Given the description of an element on the screen output the (x, y) to click on. 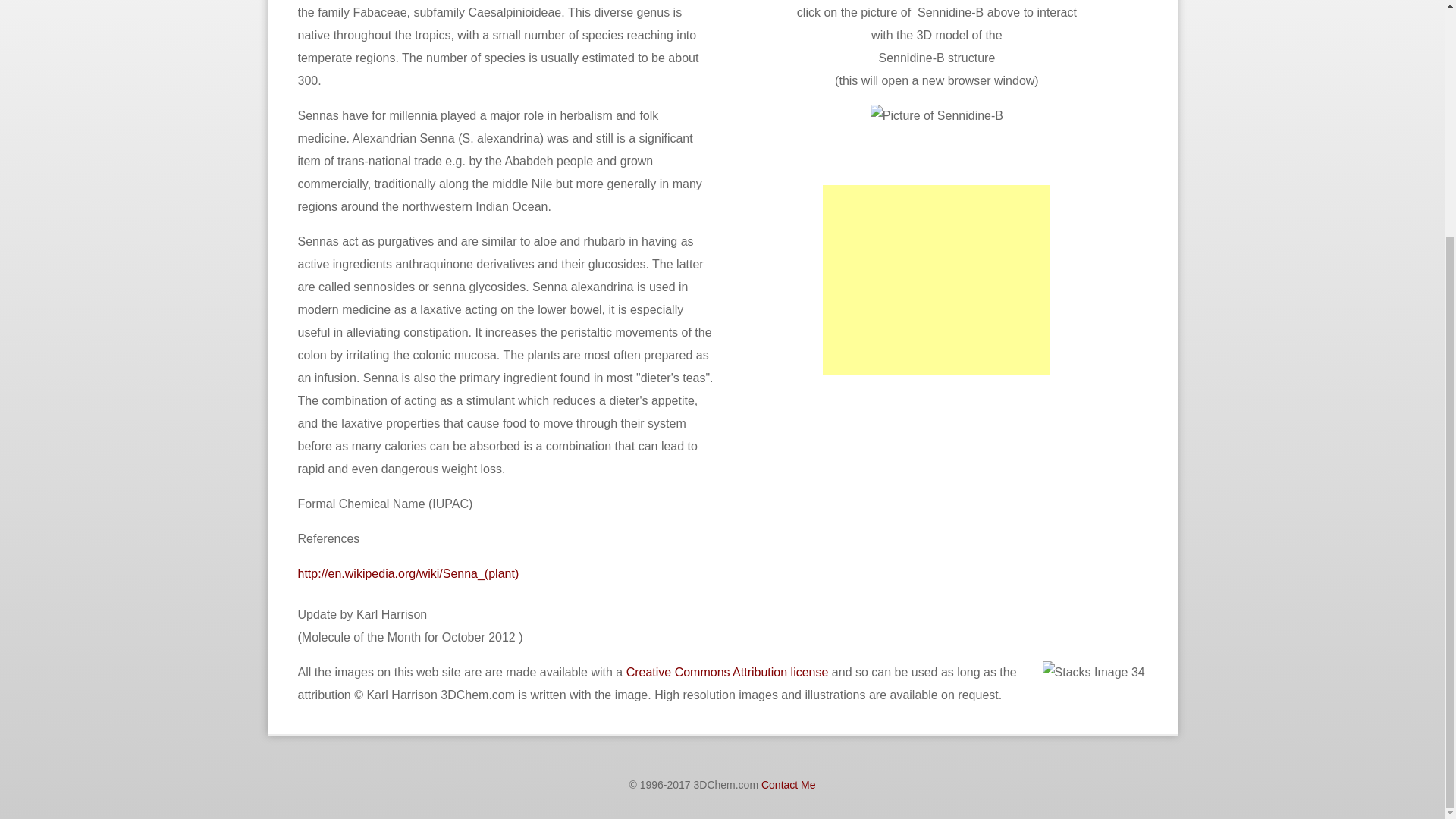
Advertisement (842, 488)
Contact Me (788, 784)
Creative Commons Attribution license (727, 671)
